Given the description of an element on the screen output the (x, y) to click on. 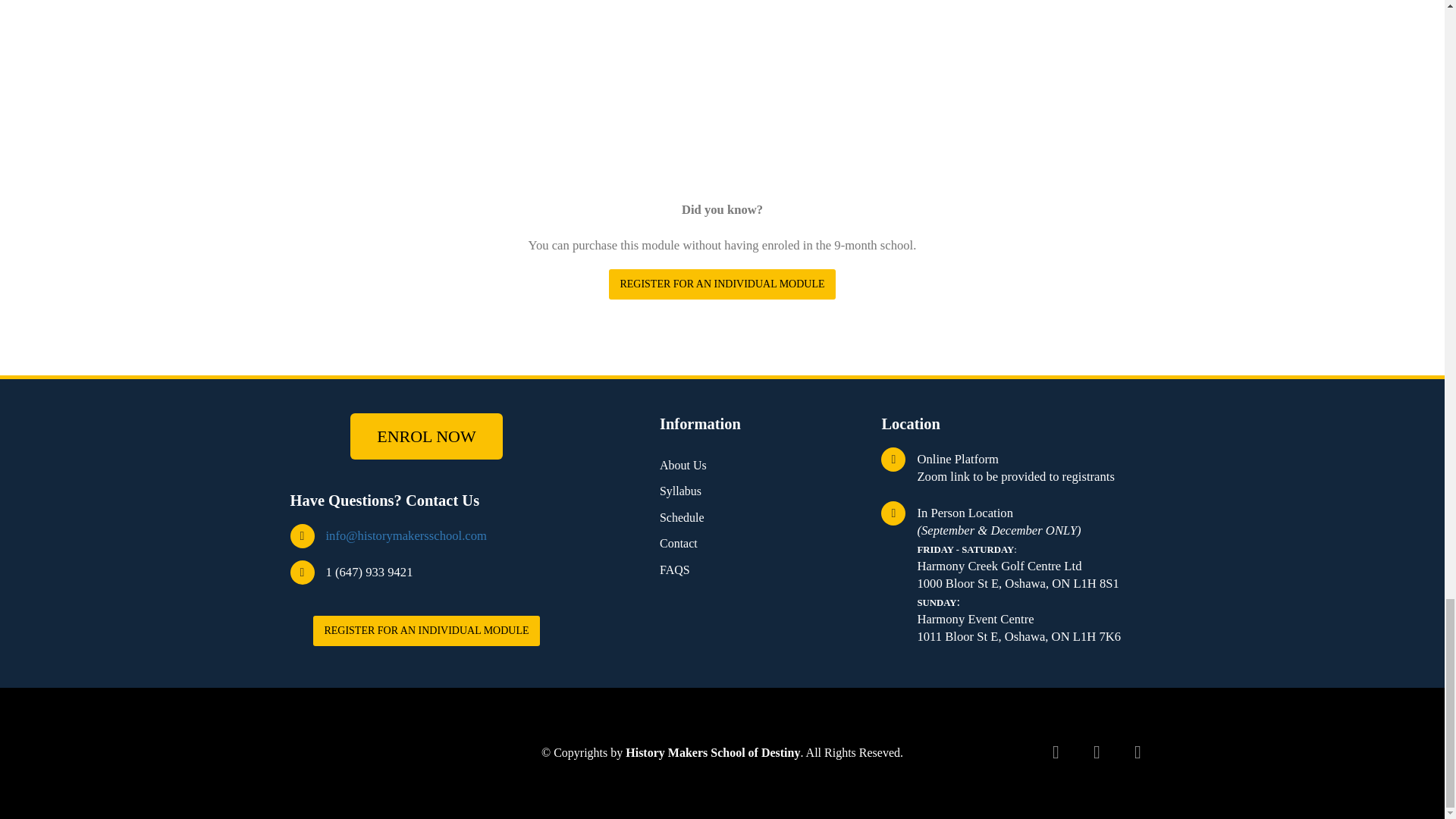
FAQS (674, 570)
Schedule (681, 517)
About Us (682, 465)
ENROL NOW (426, 436)
Syllabus (680, 491)
REGISTER FOR AN INDIVIDUAL MODULE (721, 284)
Contact (678, 543)
REGISTER FOR AN INDIVIDUAL MODULE (425, 630)
